Given the description of an element on the screen output the (x, y) to click on. 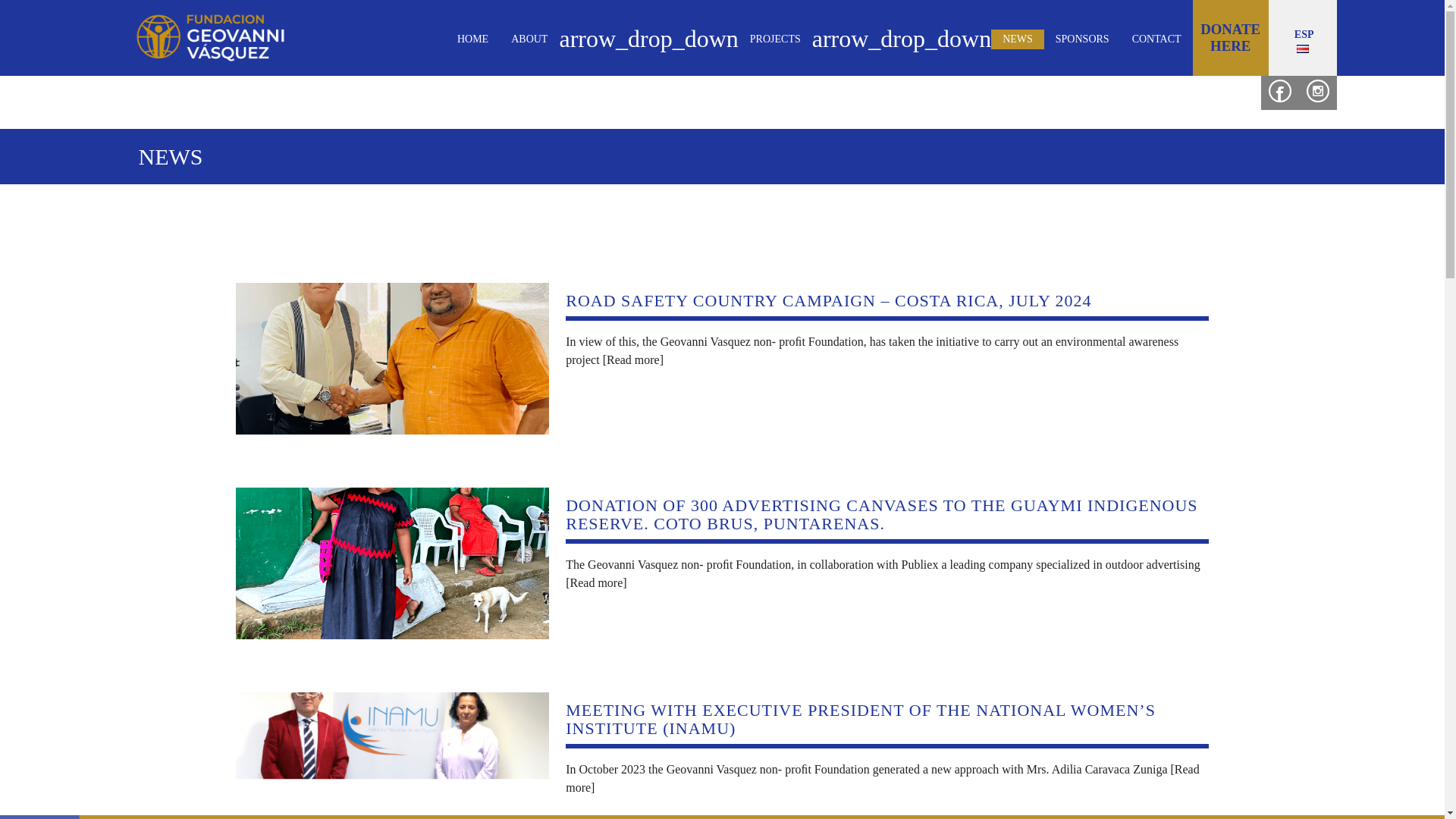
CONTACT (1156, 38)
ESP (1302, 38)
DONATE HERE (1230, 38)
SPONSORS (1082, 38)
